Given the description of an element on the screen output the (x, y) to click on. 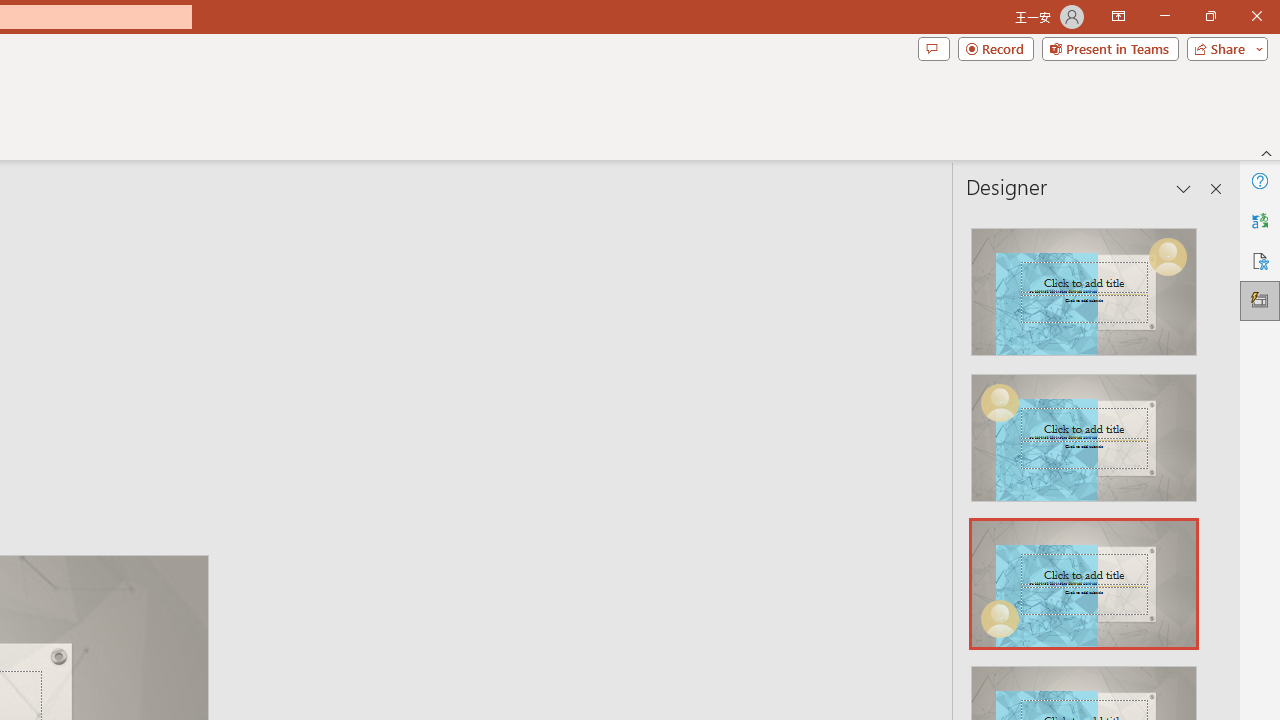
Translator (1260, 220)
Accessibility (1260, 260)
Ribbon Display Options (1118, 16)
Collapse the Ribbon (1267, 152)
Close pane (1215, 188)
Class: NetUIImage (1083, 584)
Comments (933, 48)
Help (1260, 180)
Task Pane Options (1183, 188)
Designer (1260, 300)
Present in Teams (1109, 48)
Restore Down (1210, 16)
Share (1223, 48)
